Given the description of an element on the screen output the (x, y) to click on. 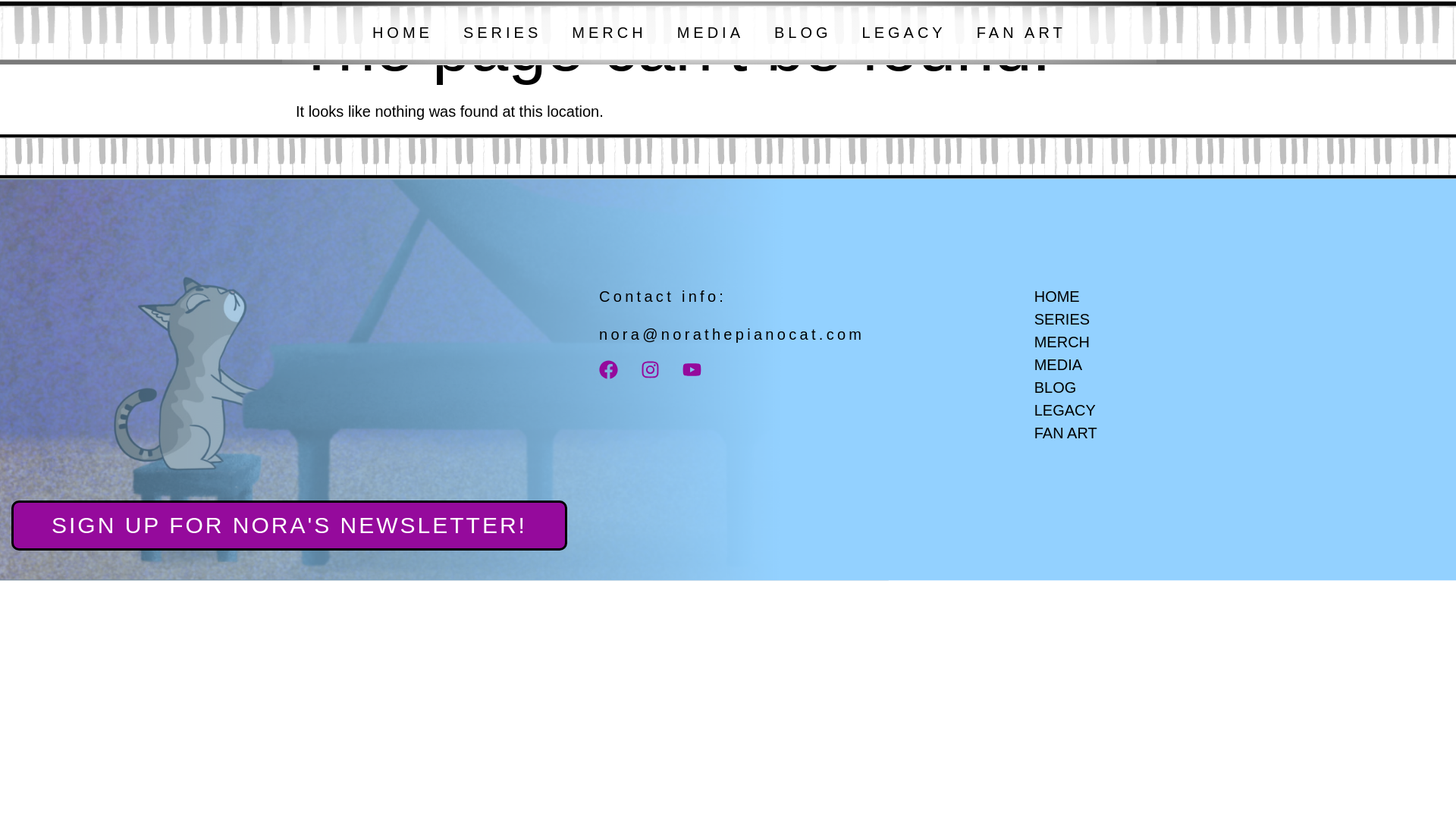
MERCH (1119, 341)
SIGN UP FOR NORA'S NEWSLETTER! (289, 525)
FAN ART (1119, 432)
SERIES (502, 32)
SERIES (1119, 318)
BLOG (802, 32)
MEDIA (710, 32)
HOME (1119, 296)
HOME (402, 32)
MERCH (608, 32)
